Given the description of an element on the screen output the (x, y) to click on. 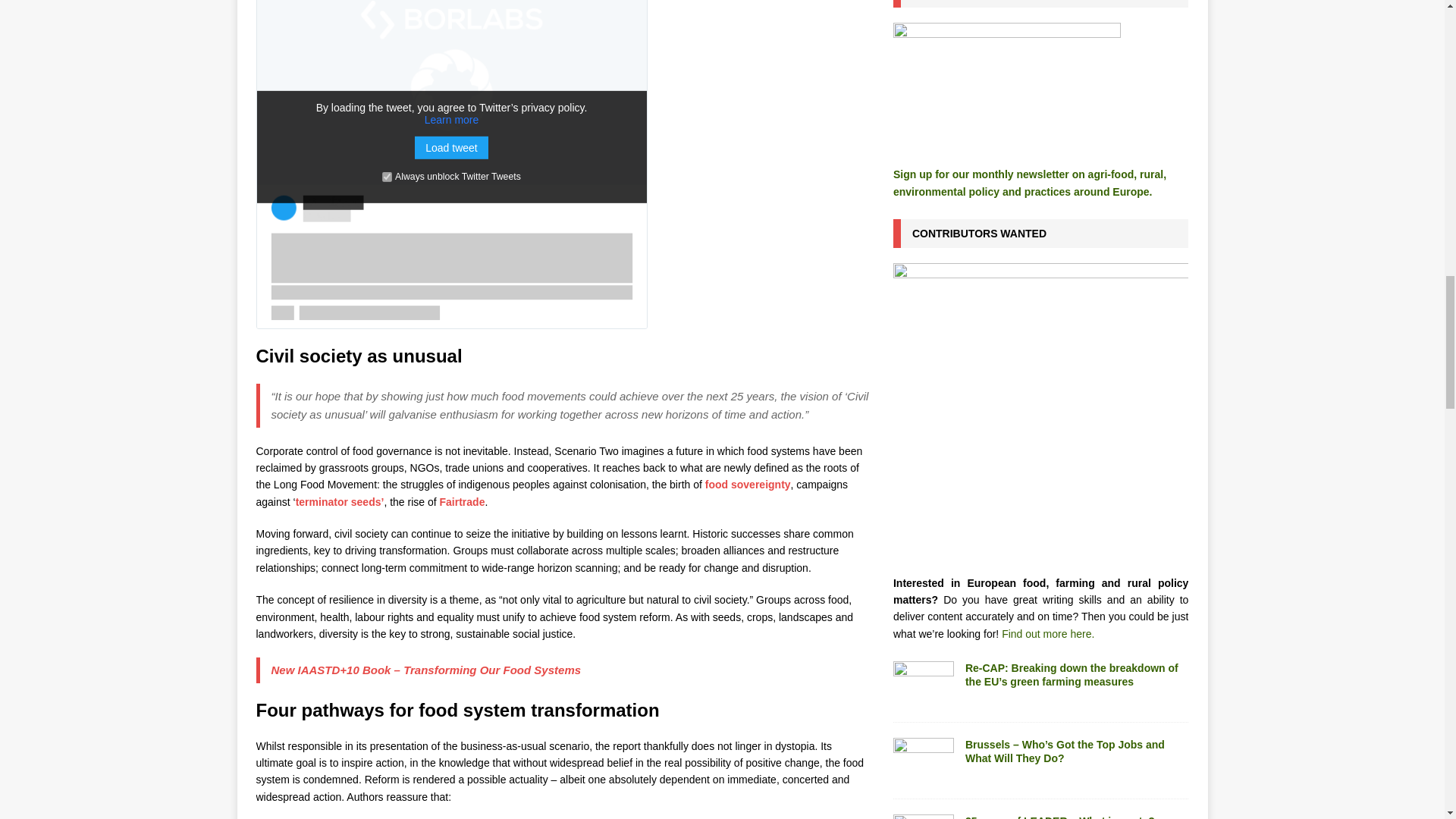
1 (386, 175)
